Given the description of an element on the screen output the (x, y) to click on. 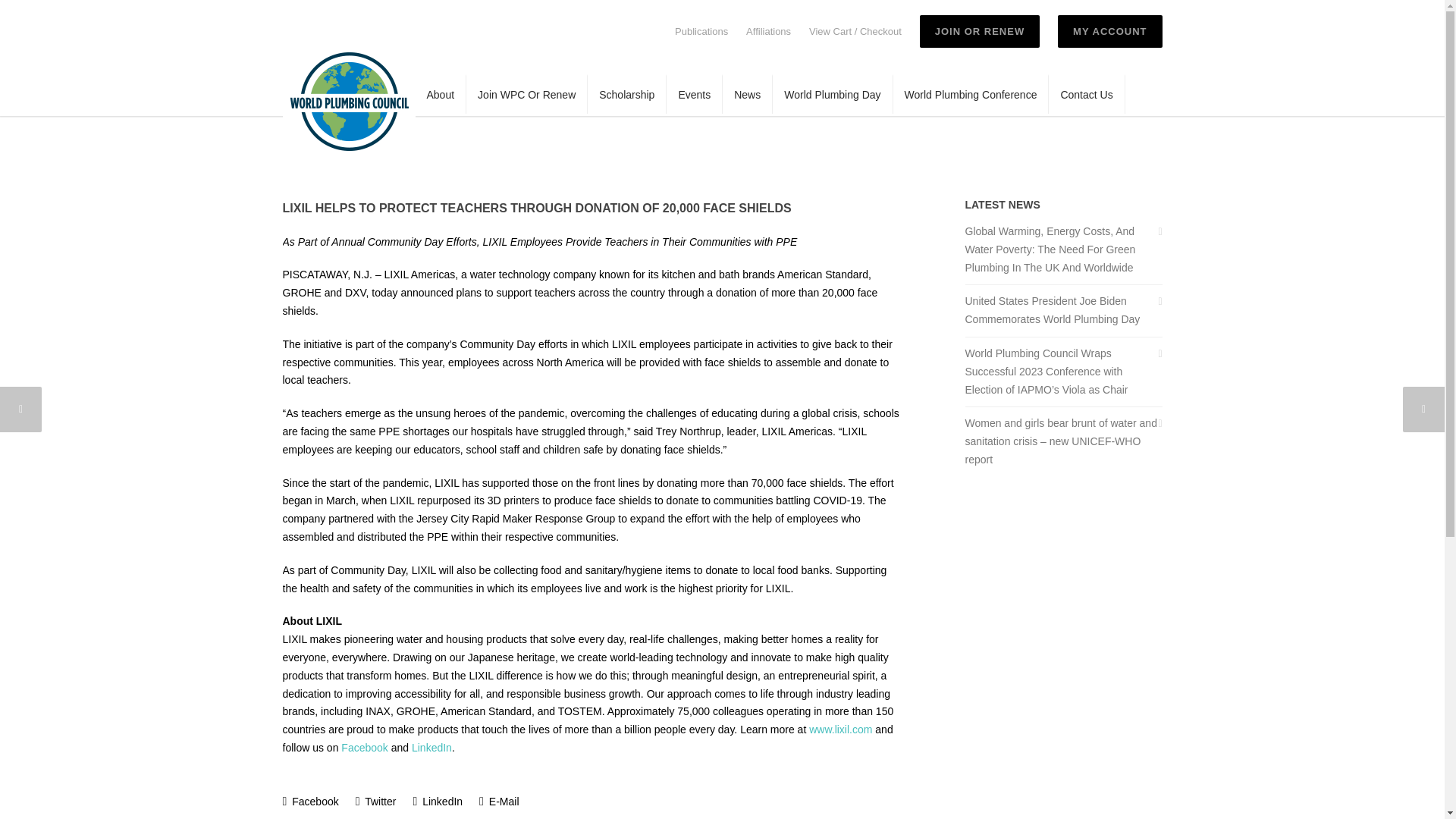
Affiliations (767, 31)
Publications (701, 31)
News (747, 93)
About (440, 93)
Join WPC Or Renew (526, 93)
World Plumbing Day (832, 93)
Scholarship (627, 93)
Events (694, 93)
MY ACCOUNT (1109, 31)
JOIN OR RENEW (979, 31)
